Given the description of an element on the screen output the (x, y) to click on. 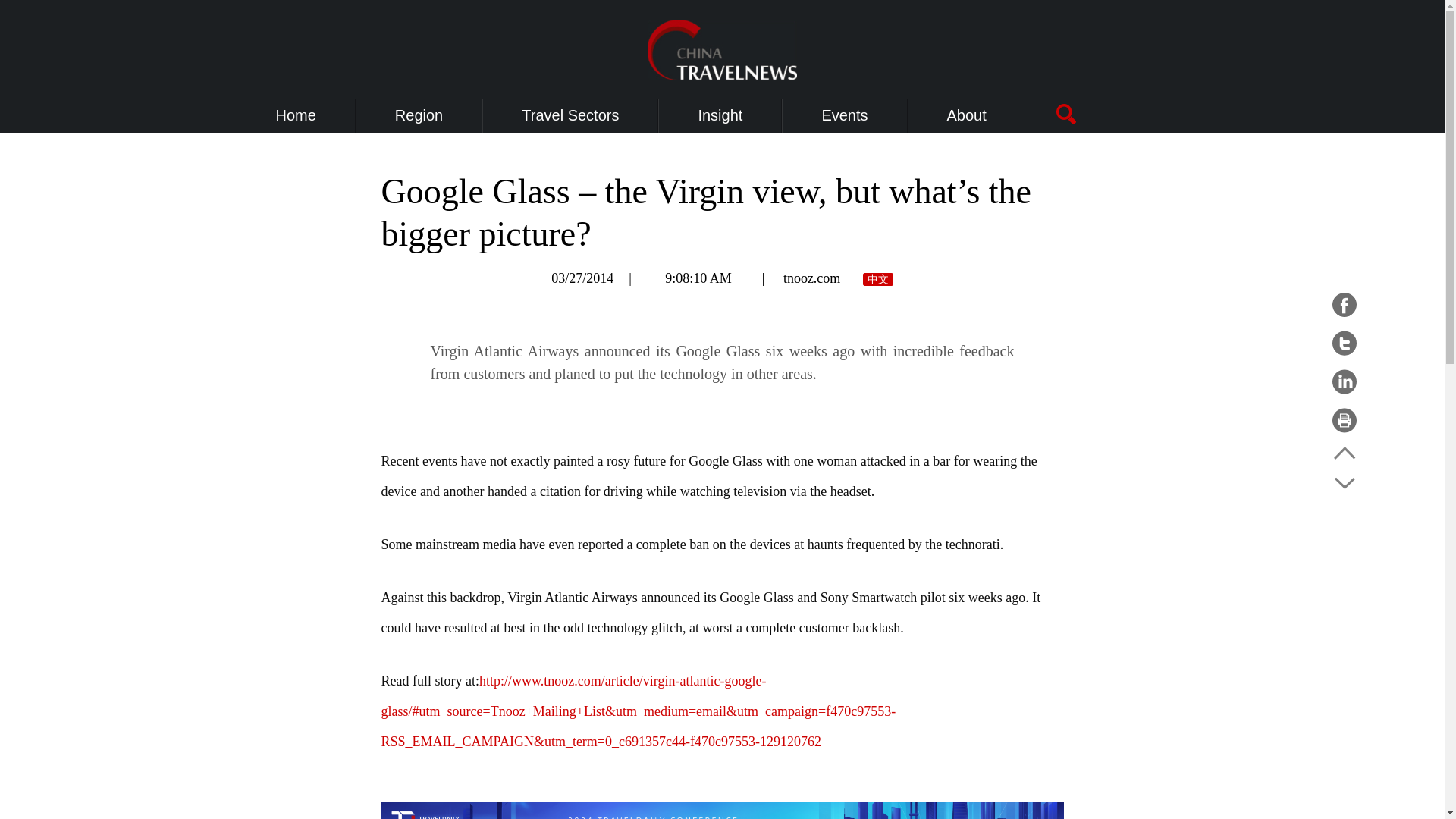
Events (844, 115)
Home (295, 115)
About (967, 115)
